Given the description of an element on the screen output the (x, y) to click on. 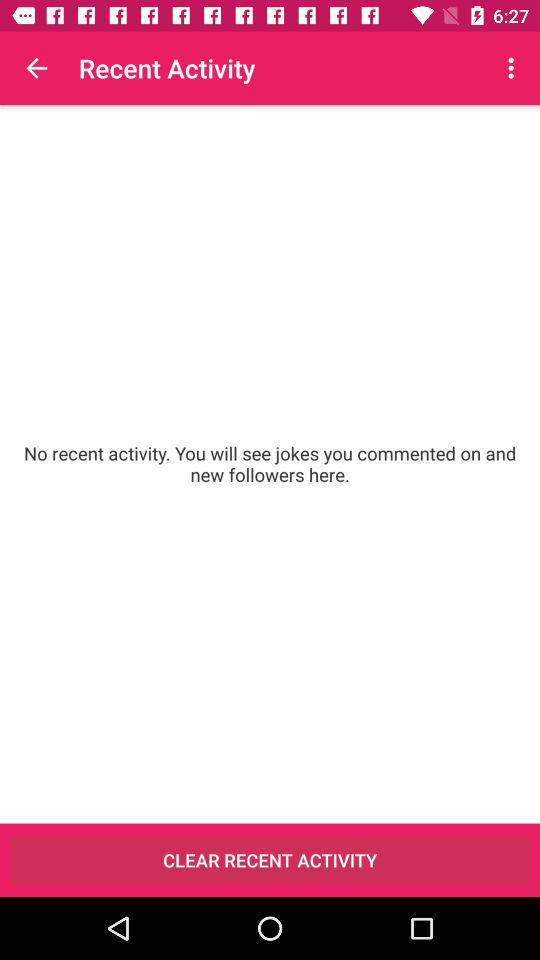
choose the item to the left of the recent activity item (36, 68)
